Given the description of an element on the screen output the (x, y) to click on. 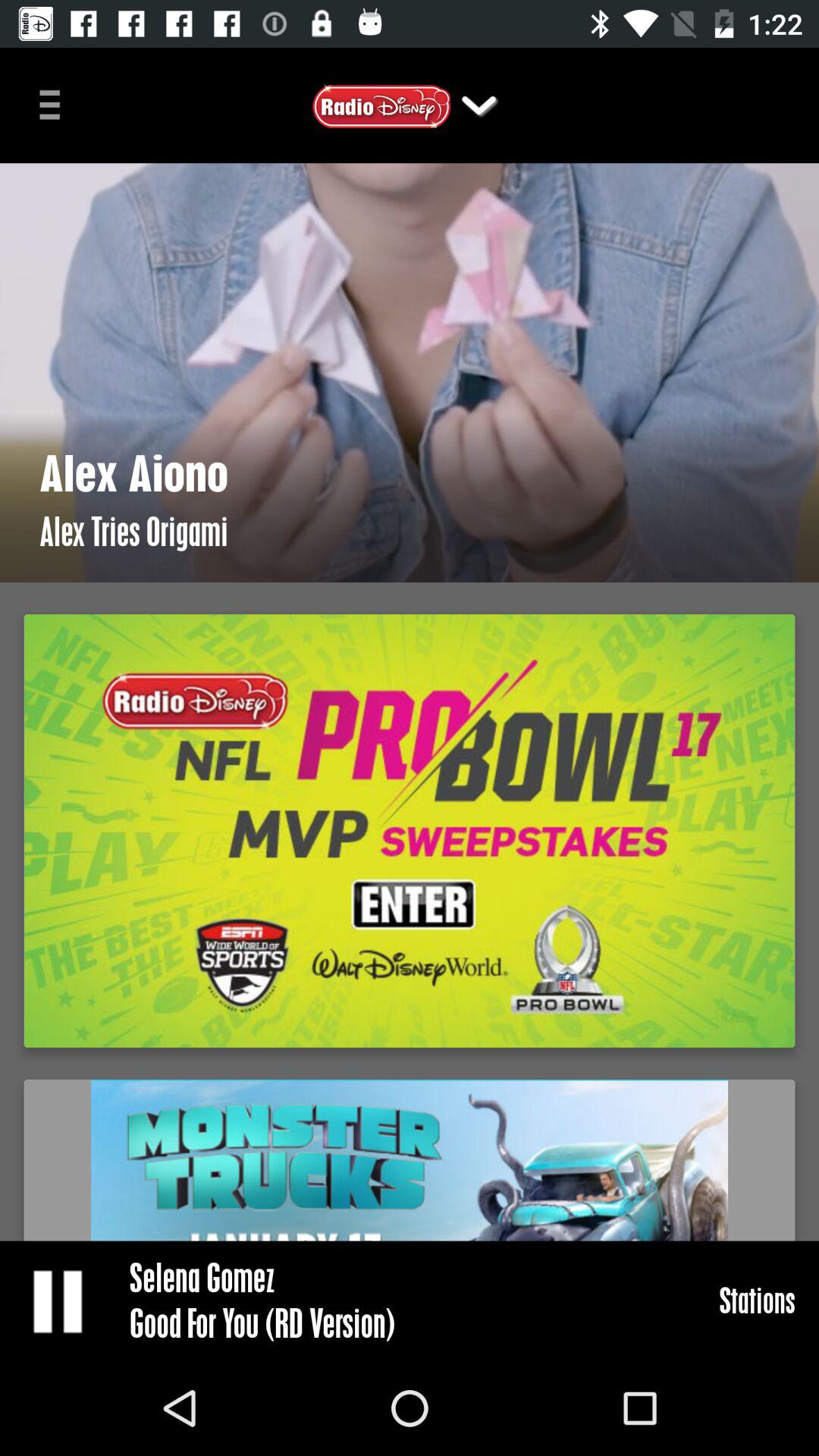
click on the dropdown button on the top (478, 105)
